Given the description of an element on the screen output the (x, y) to click on. 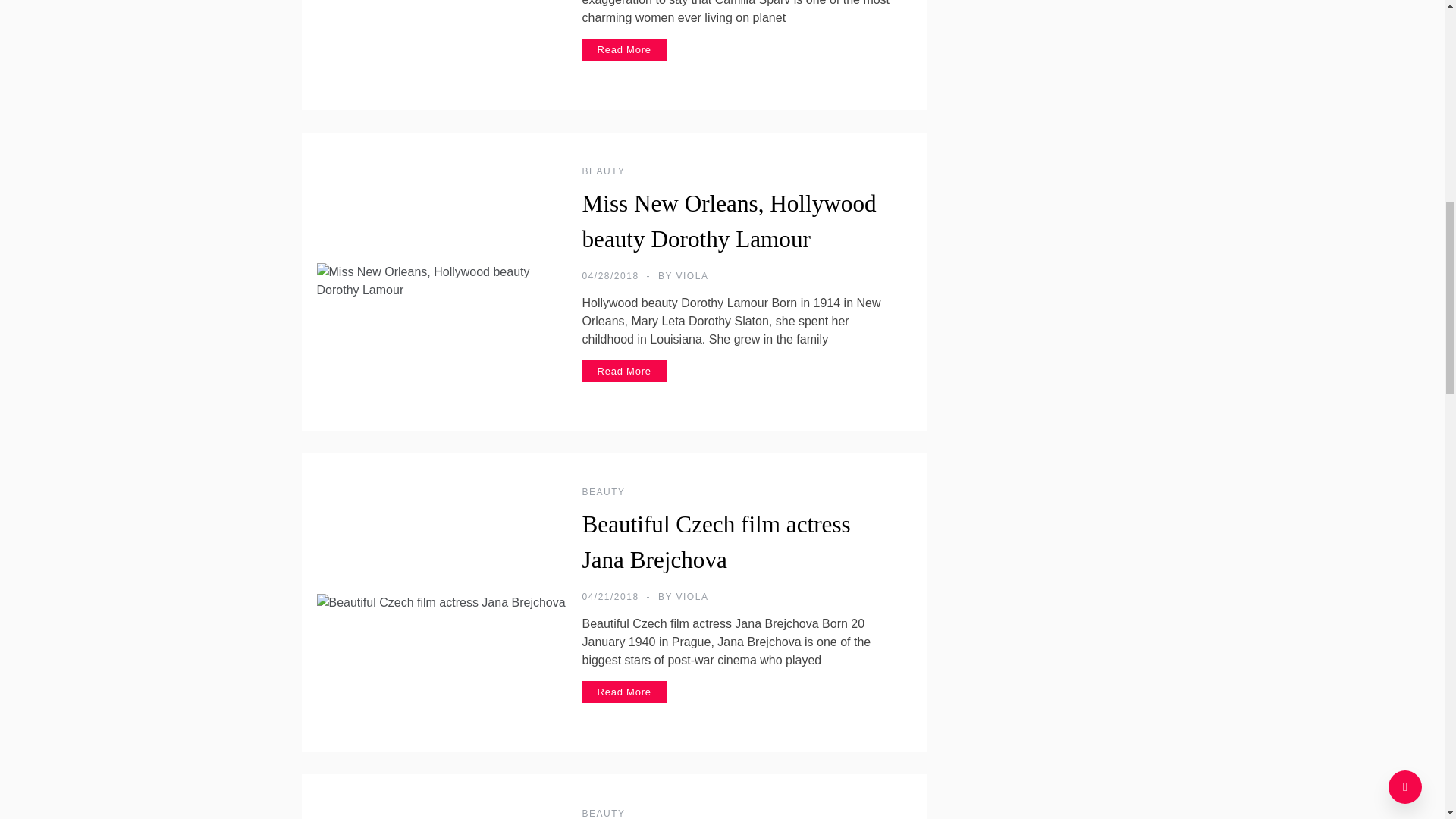
Read More (624, 691)
VIOLA (693, 276)
BEAUTY (604, 171)
Read More (624, 371)
Read More (624, 49)
Beautiful Czech film actress Jana Brejchova (716, 542)
BEAUTY (604, 491)
Miss New Orleans, Hollywood beauty Dorothy Lamour (729, 221)
VIOLA (693, 596)
BEAUTY (604, 813)
